Given the description of an element on the screen output the (x, y) to click on. 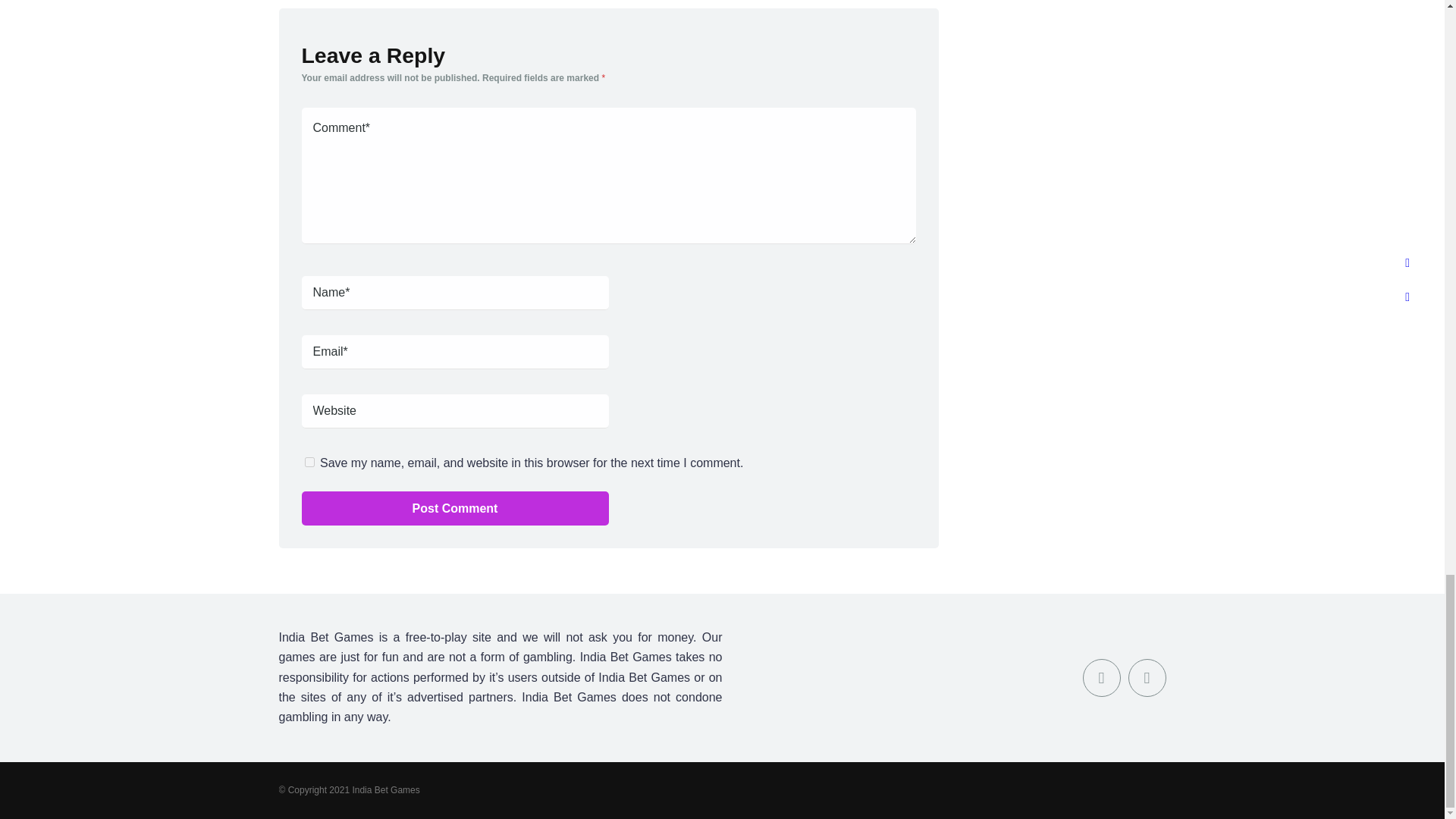
Post Comment (454, 508)
Twitter (1147, 677)
Post Comment (454, 508)
Facebook (1102, 677)
yes (309, 461)
